Given the description of an element on the screen output the (x, y) to click on. 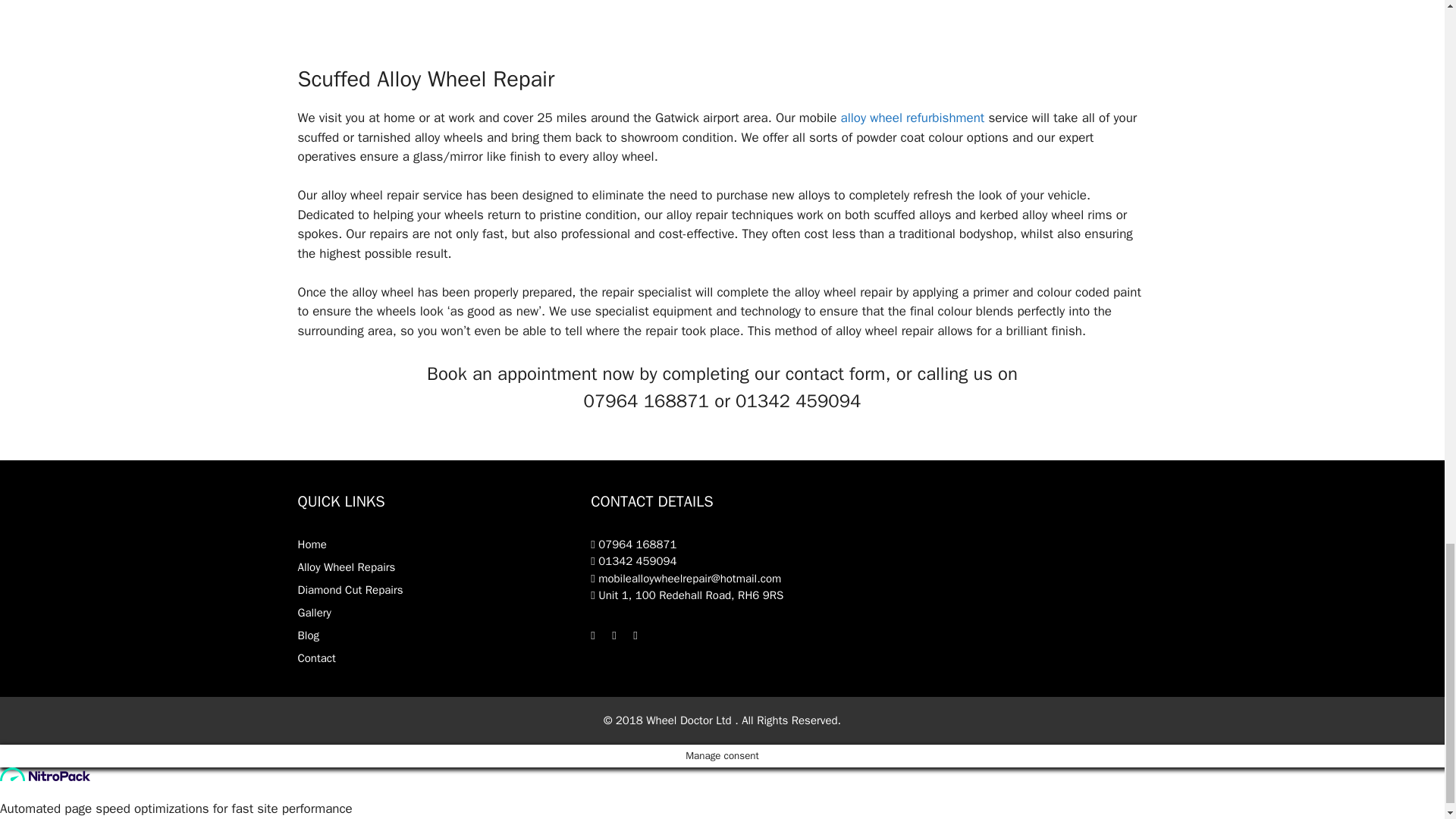
Gallery (313, 612)
Alloy Wheel Repairs (345, 567)
Home (311, 544)
01342 459094 (634, 561)
Blog (307, 635)
Contact (315, 658)
alloy wheel refurbishment (913, 117)
Diamond Cut Repairs (350, 590)
07964 168871 (634, 544)
Mobile Alloy Wheel Repairs (913, 117)
